Given the description of an element on the screen output the (x, y) to click on. 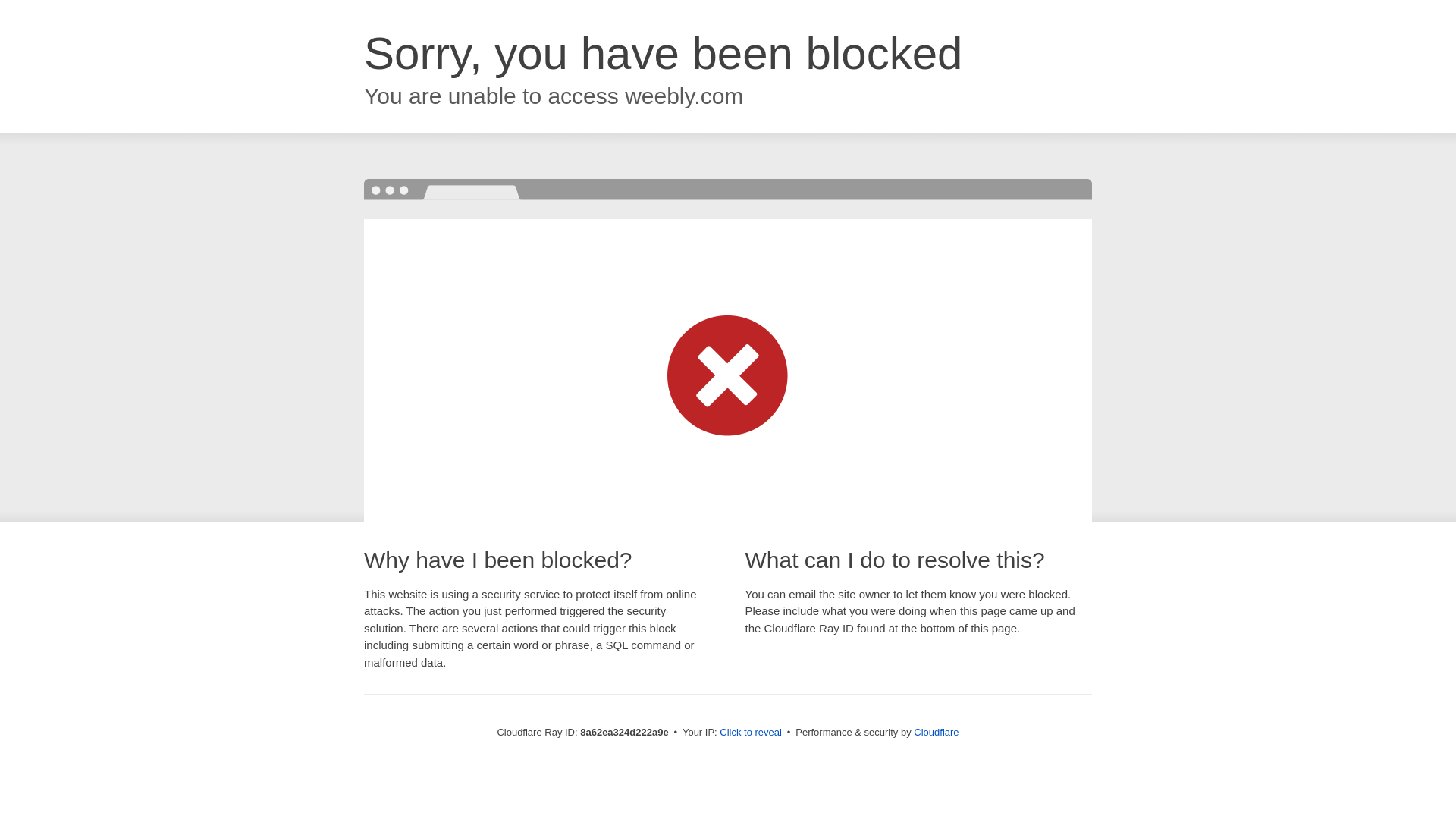
Click to reveal (750, 732)
Cloudflare (936, 731)
